Given the description of an element on the screen output the (x, y) to click on. 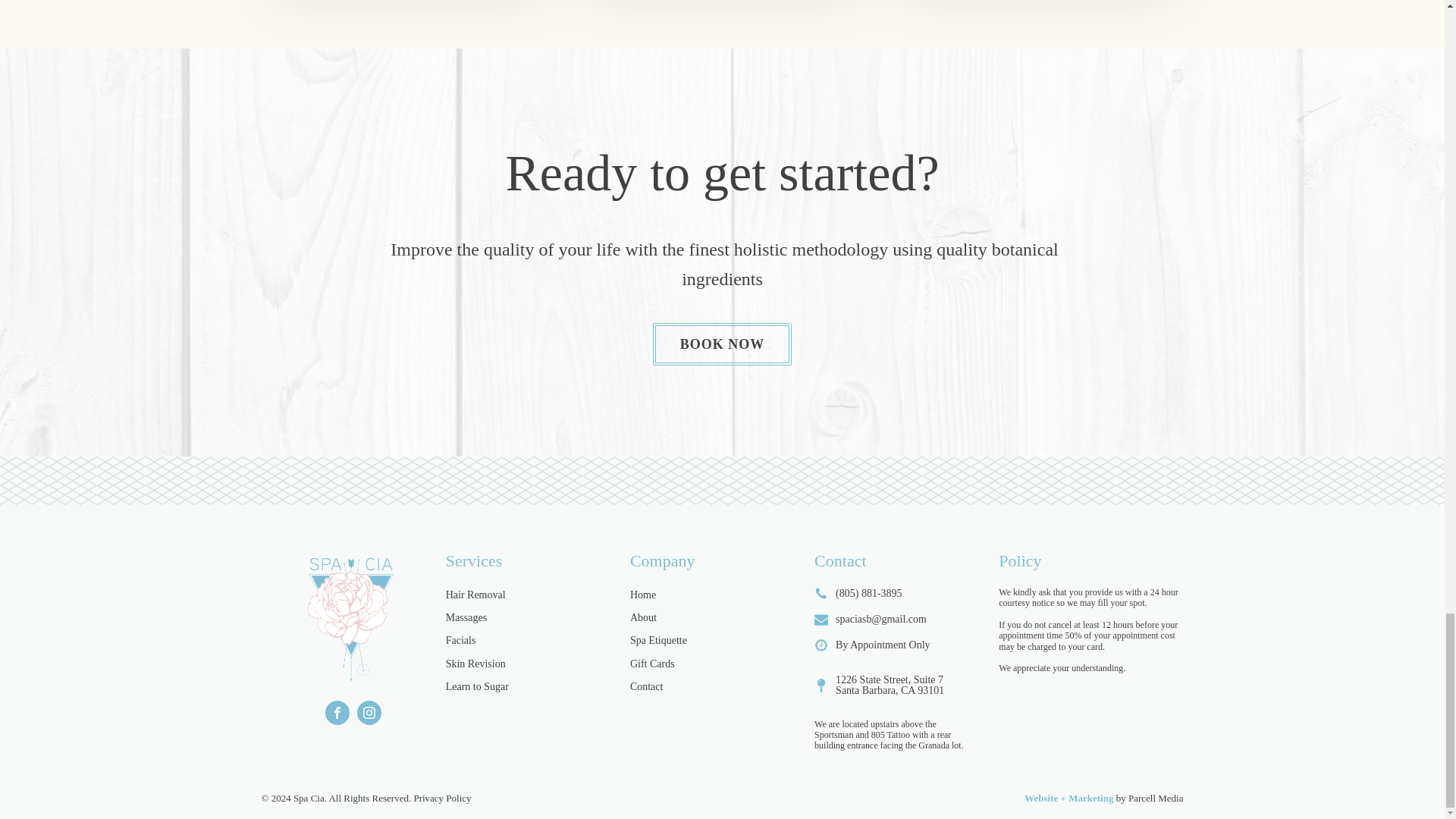
Home (643, 595)
Contact (646, 686)
BOOK NOW (722, 344)
Spa Etiquette (658, 640)
 Privacy Policy (440, 798)
About (643, 617)
Massages (465, 617)
Gift Cards (652, 664)
Facials (460, 640)
Learn to Sugar (476, 686)
Skin Revision (475, 664)
Hair Removal (475, 595)
